Given the description of an element on the screen output the (x, y) to click on. 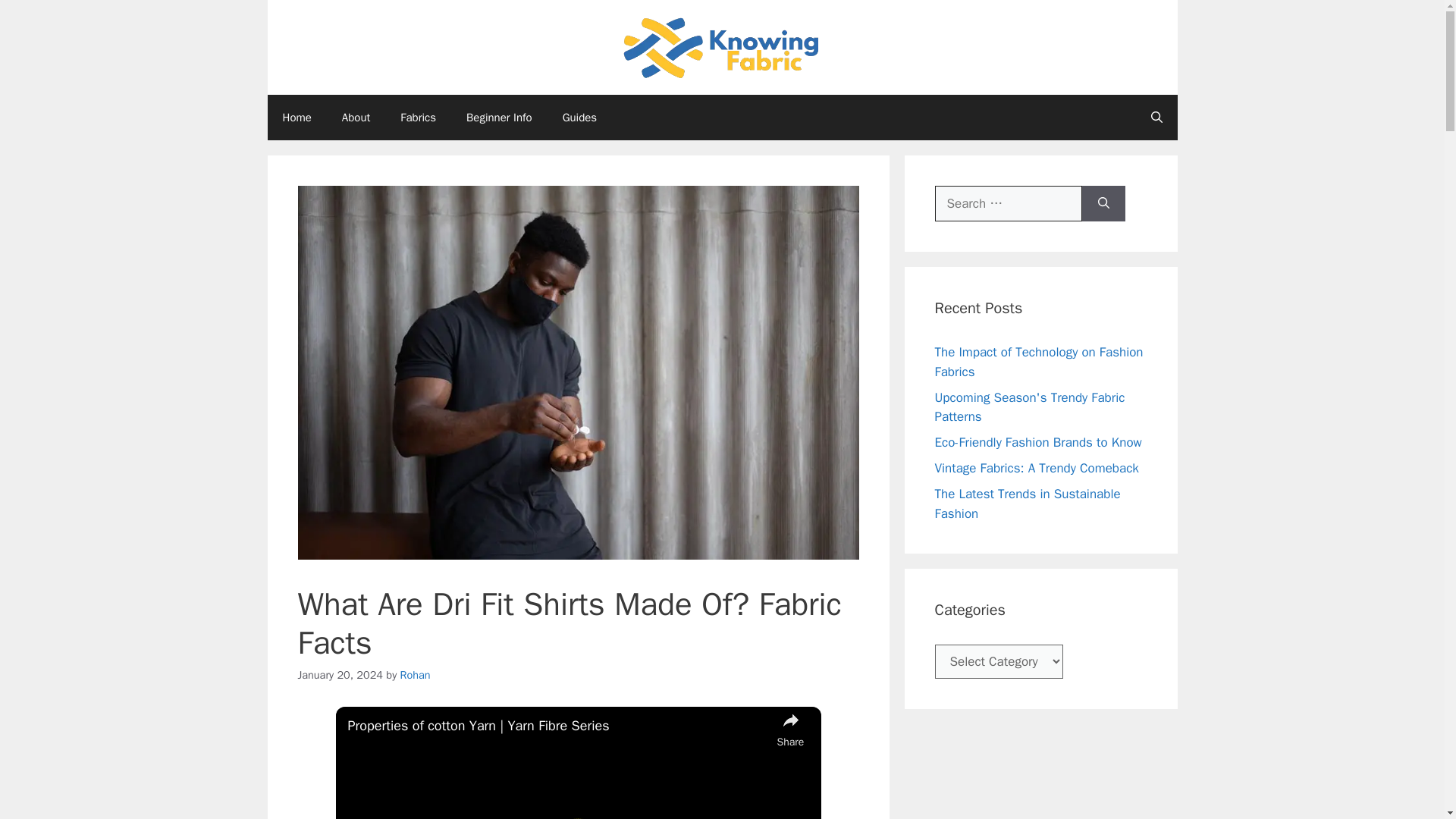
Rohan (415, 674)
The Latest Trends in Sustainable Fashion (1026, 503)
Fabrics (418, 117)
The Impact of Technology on Fashion Fabrics (1038, 361)
Home (296, 117)
View all posts by Rohan (415, 674)
Upcoming Season's Trendy Fabric Patterns (1029, 407)
About (355, 117)
Search for: (1007, 203)
Beginner Info (499, 117)
Guides (579, 117)
Vintage Fabrics: A Trendy Comeback (1036, 467)
Eco-Friendly Fashion Brands to Know (1037, 442)
